Given the description of an element on the screen output the (x, y) to click on. 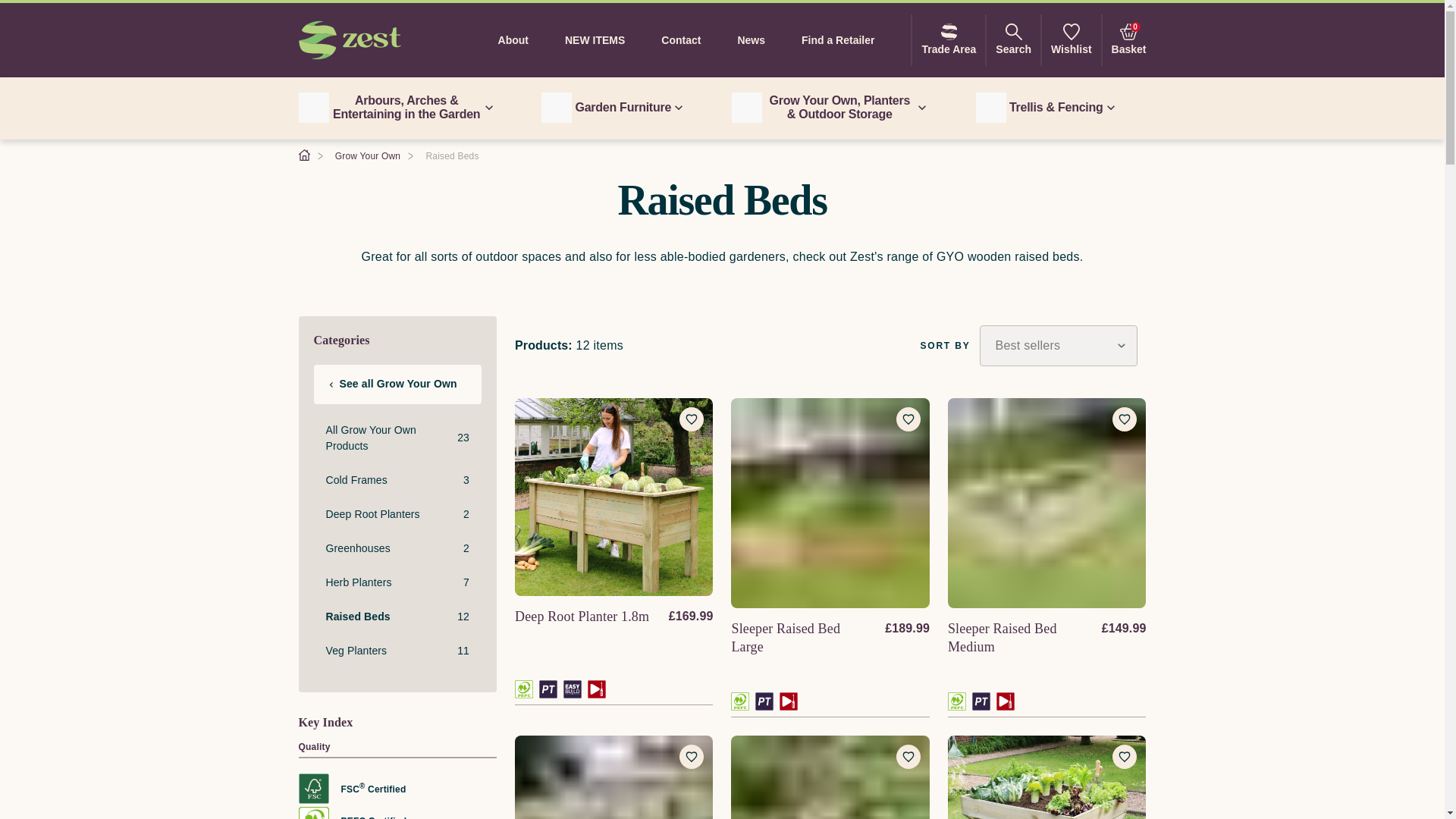
Find a Retailer (837, 39)
News (751, 39)
Garden Furniture (1128, 40)
Trade Area (613, 107)
Search (948, 40)
NEW ITEMS (1013, 40)
Contact (594, 39)
Wishlist (681, 39)
About (1070, 40)
